Given the description of an element on the screen output the (x, y) to click on. 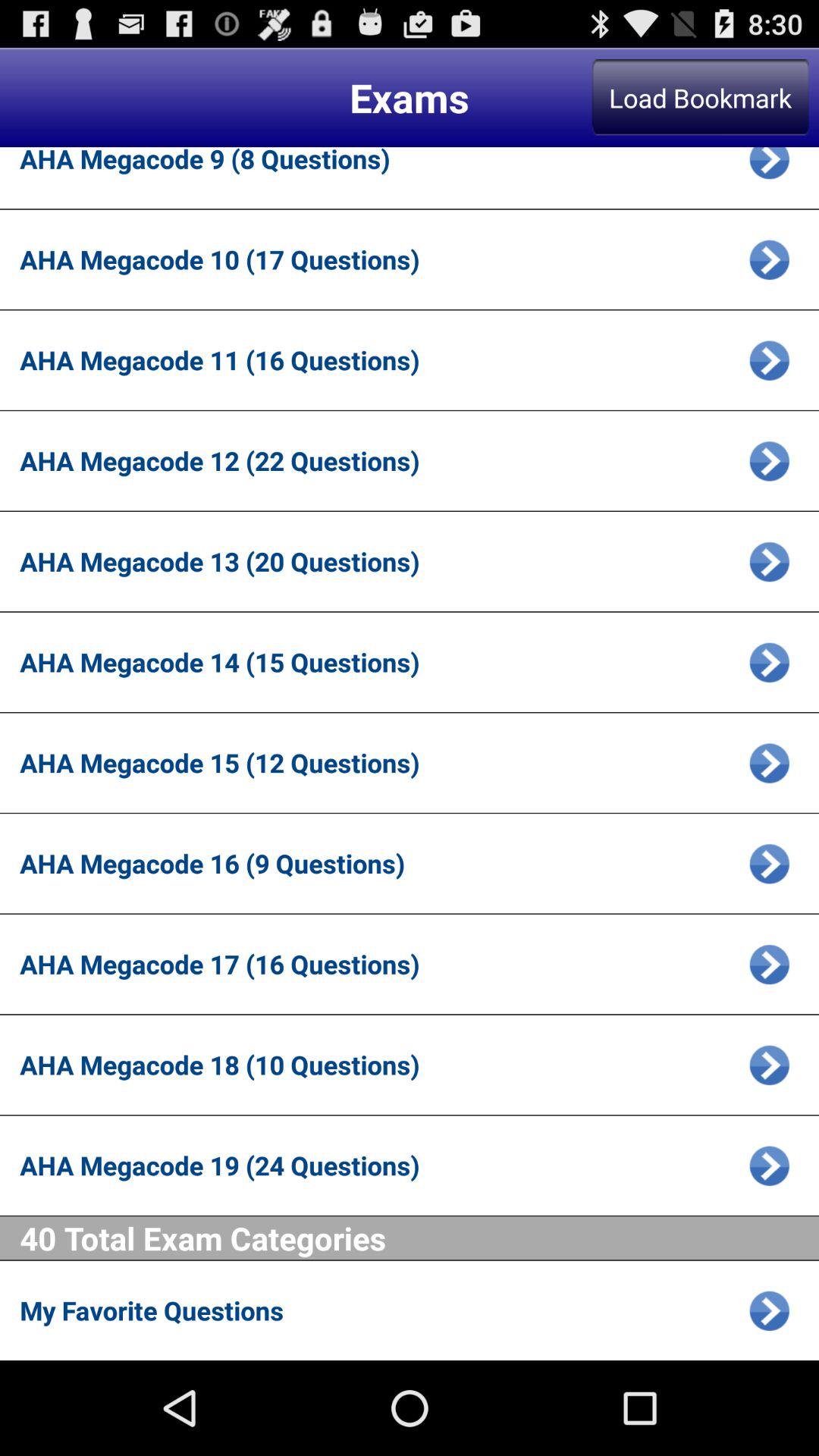
open page (769, 259)
